Given the description of an element on the screen output the (x, y) to click on. 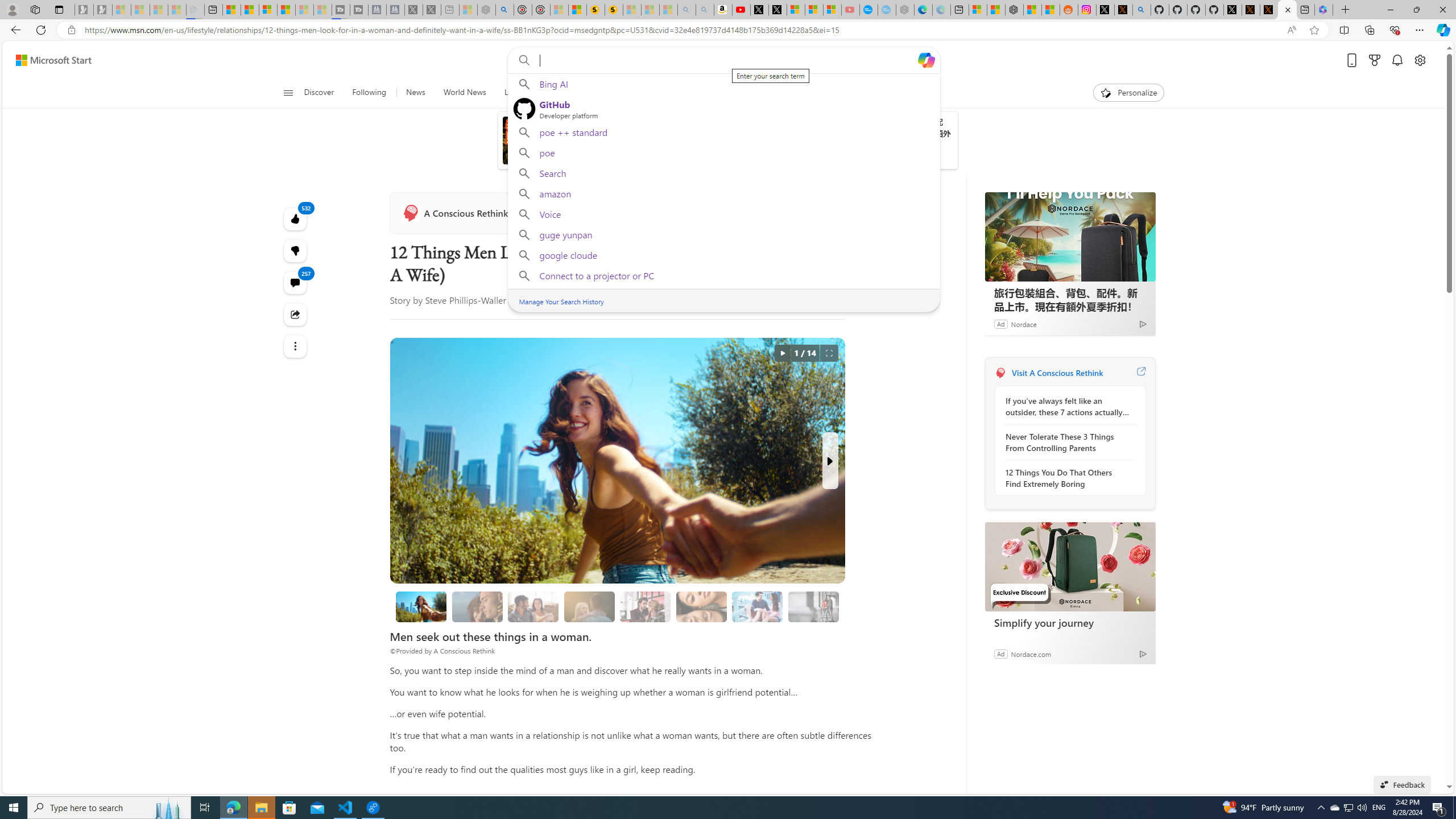
Amazon Echo Dot PNG - Search Images - Sleeping (705, 9)
Technology (604, 92)
autorotate button (782, 352)
3. People flirt with you and want your company. (757, 606)
Food & Drink (860, 92)
Class: button-glyph (287, 92)
Men seek out these things in a woman. (421, 606)
